Given the description of an element on the screen output the (x, y) to click on. 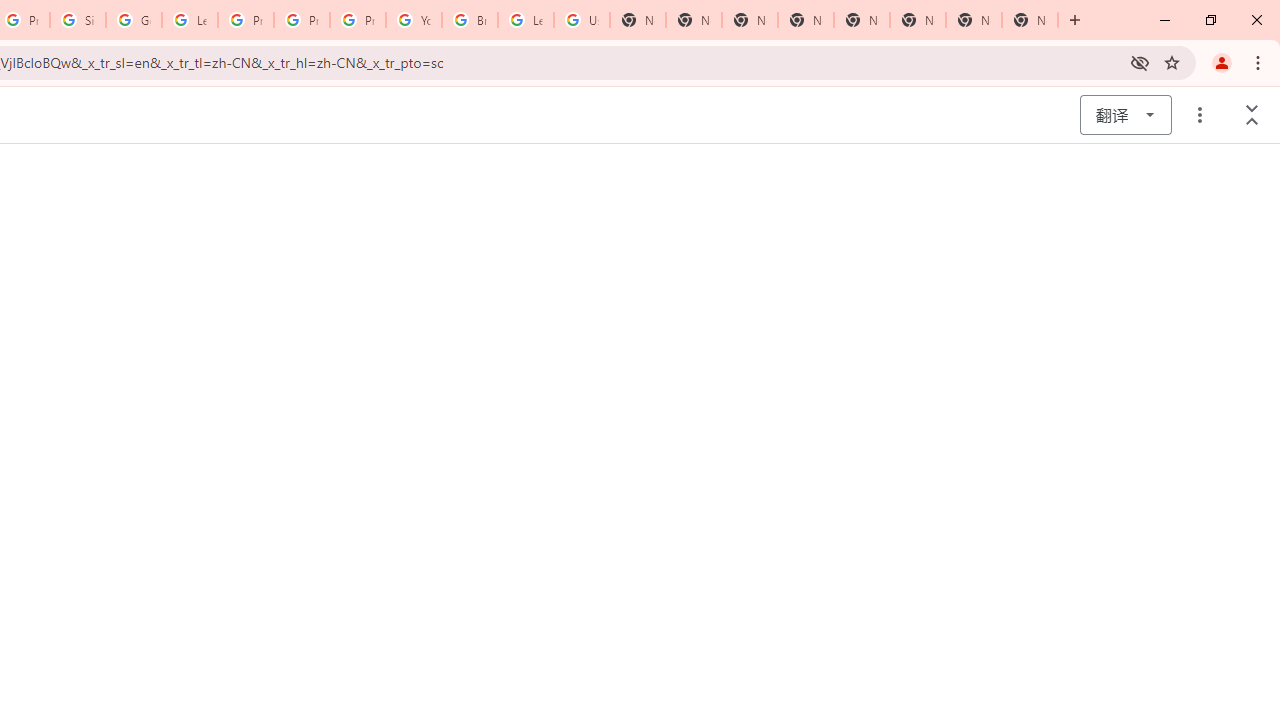
New Tab (749, 20)
New Tab (1030, 20)
